Given the description of an element on the screen output the (x, y) to click on. 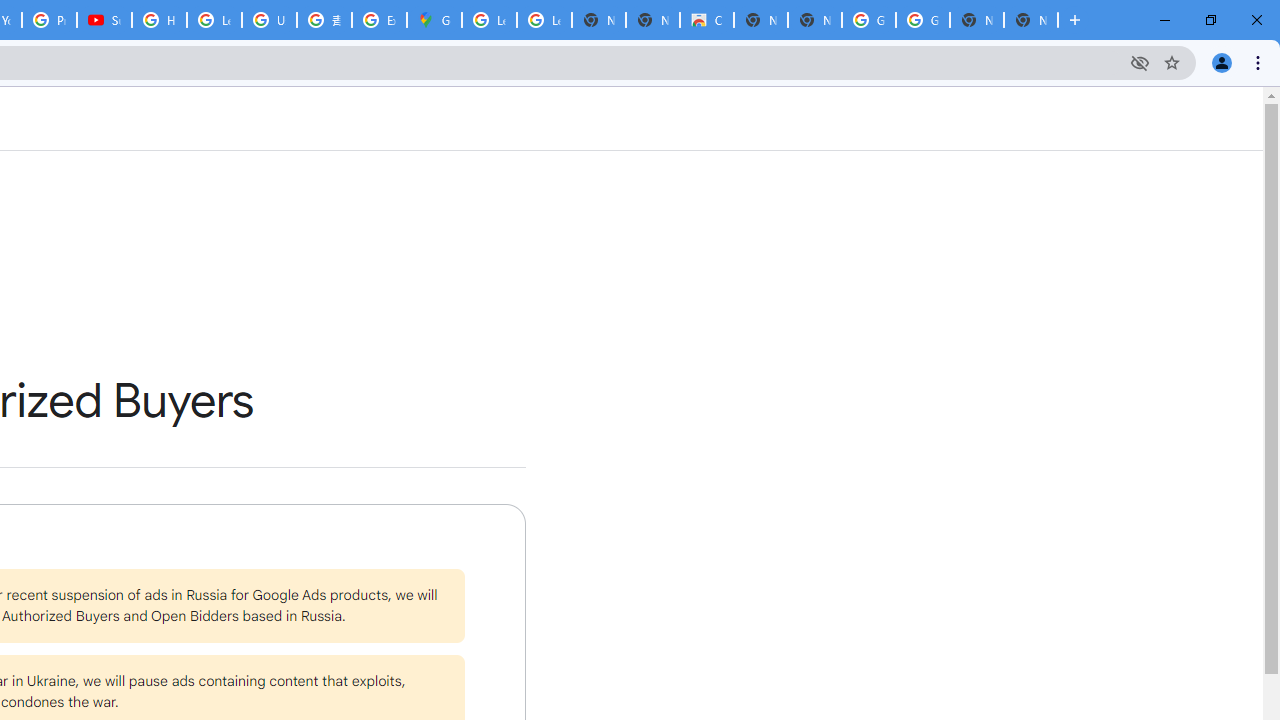
Explore new street-level details - Google Maps Help (379, 20)
Chrome Web Store (706, 20)
Google Maps (434, 20)
Third-party cookies blocked (1139, 62)
